Given the description of an element on the screen output the (x, y) to click on. 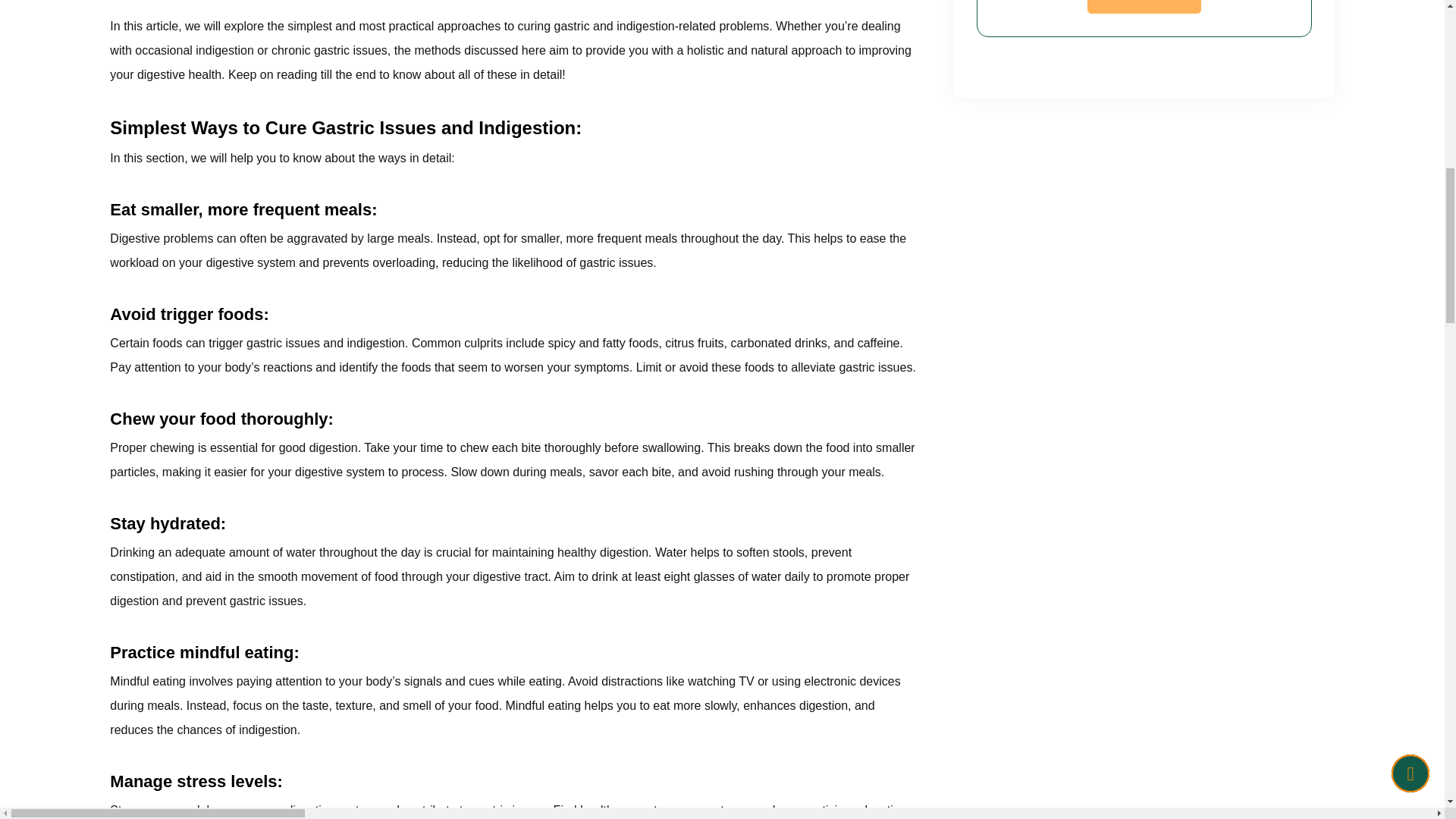
Send (1144, 6)
